Given the description of an element on the screen output the (x, y) to click on. 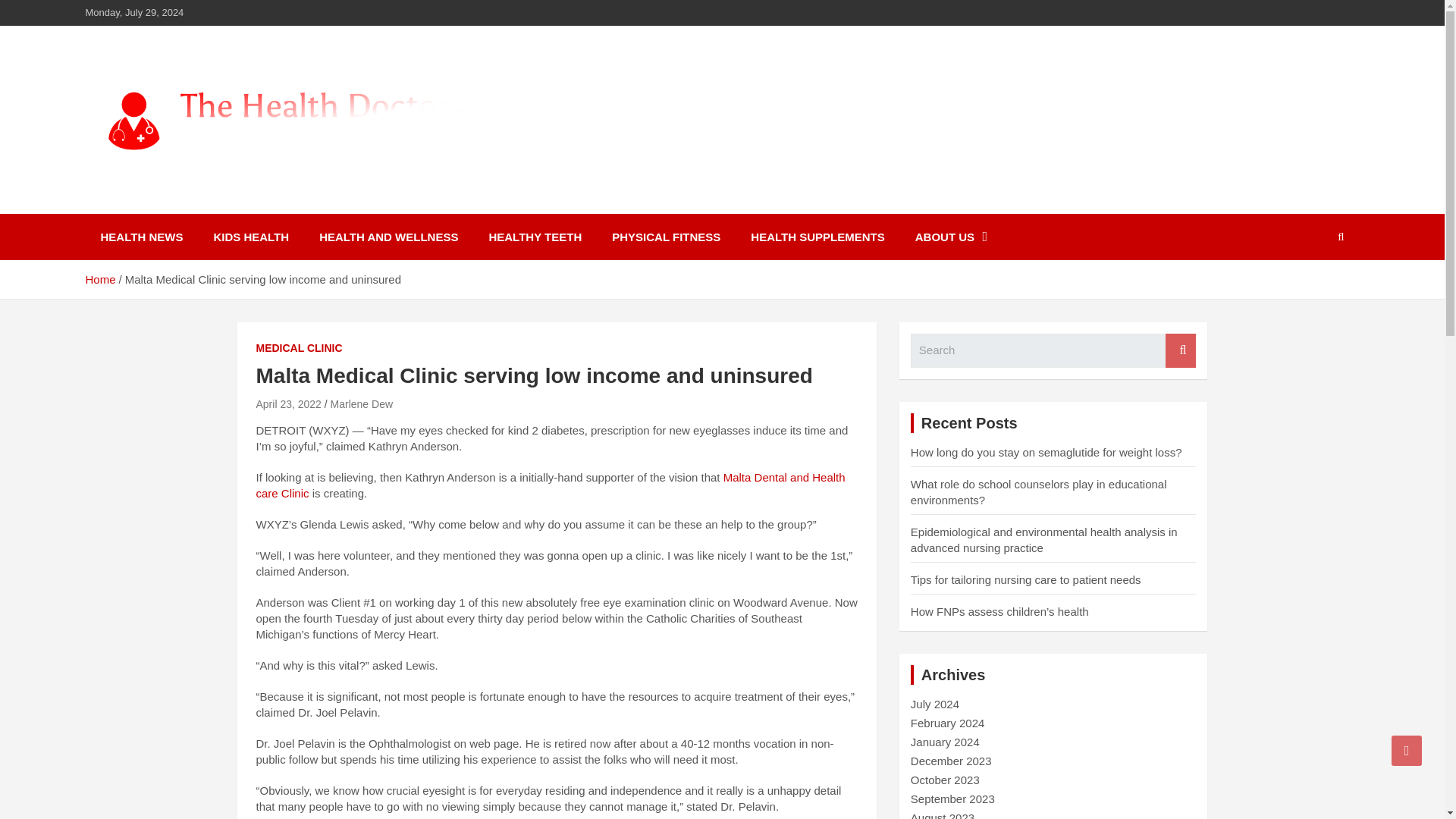
Marlene Dew (361, 404)
December 2023 (951, 760)
The Health Doctors (223, 203)
Tips for tailoring nursing care to patient needs (1026, 579)
MEDICAL CLINIC (299, 348)
Go to Top (1406, 750)
Malta Dental and Health care Clinic (550, 484)
Search (1180, 350)
HEALTH NEWS (141, 236)
PHYSICAL FITNESS (665, 236)
HEALTH AND WELLNESS (388, 236)
Malta Medical Clinic serving low income and uninsured (288, 404)
KIDS HEALTH (251, 236)
